Given the description of an element on the screen output the (x, y) to click on. 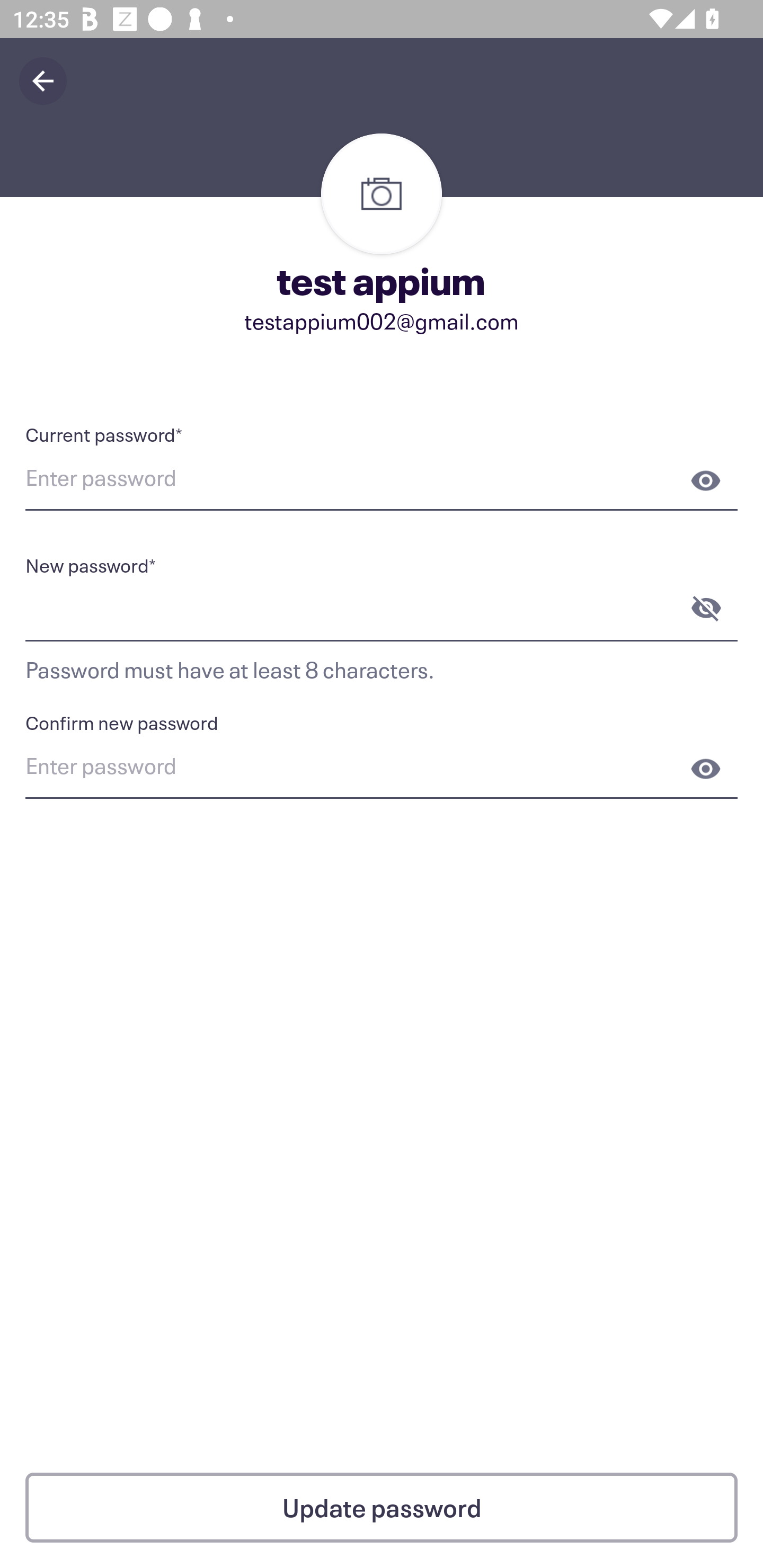
Enter password (381, 480)
Show password (705, 480)
Enter password (381, 768)
Show password (705, 768)
Update password (381, 1507)
